Given the description of an element on the screen output the (x, y) to click on. 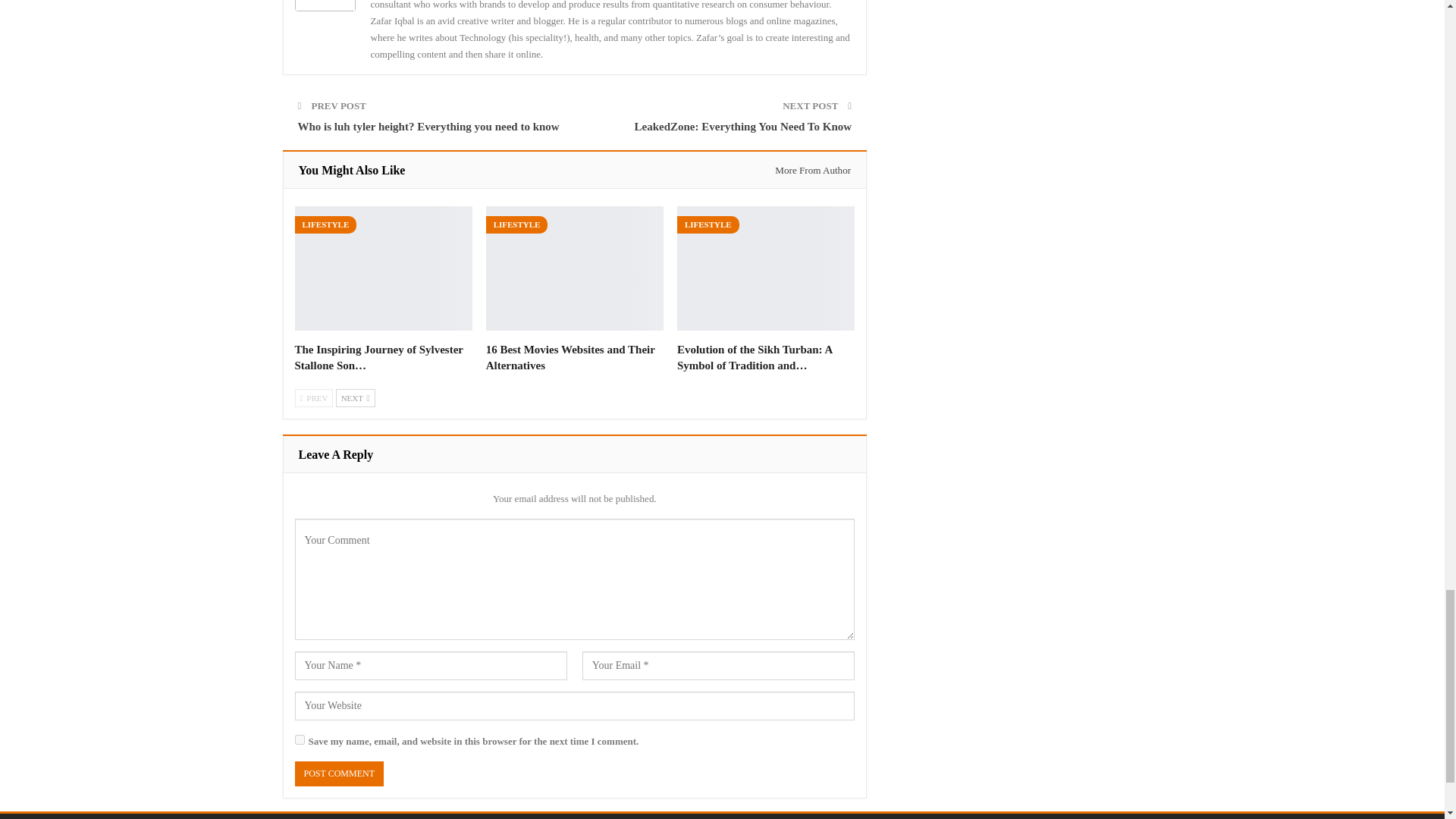
yes (299, 739)
Post Comment (338, 773)
The Inspiring Journey of Sylvester Stallone Son Seargeoh (382, 268)
The Inspiring Journey of Sylvester Stallone Son Seargeoh (378, 357)
